Given the description of an element on the screen output the (x, y) to click on. 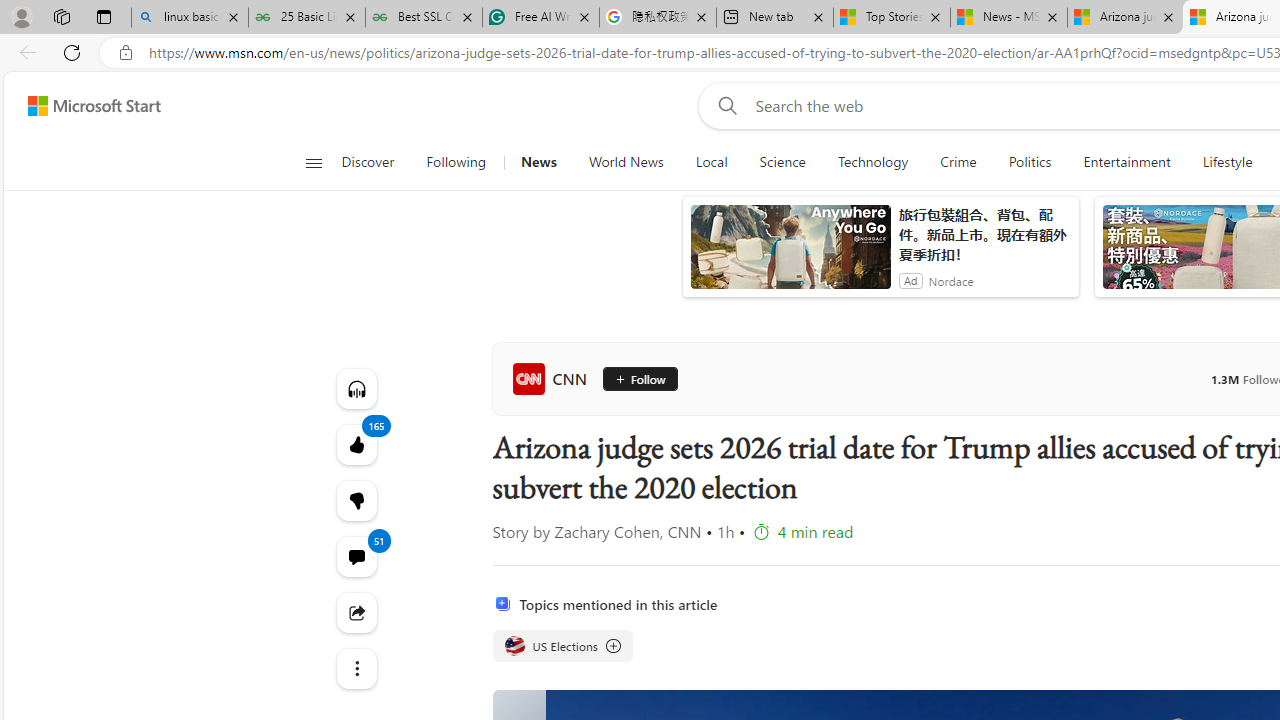
Politics (1030, 162)
25 Basic Linux Commands For Beginners - GeeksforGeeks (306, 17)
Crime (958, 162)
Lifestyle (1227, 162)
US Elections (514, 645)
View comments 51 Comment (356, 556)
Class: button-glyph (313, 162)
Entertainment (1126, 162)
Listen to this article (356, 388)
Science (782, 162)
